Given the description of an element on the screen output the (x, y) to click on. 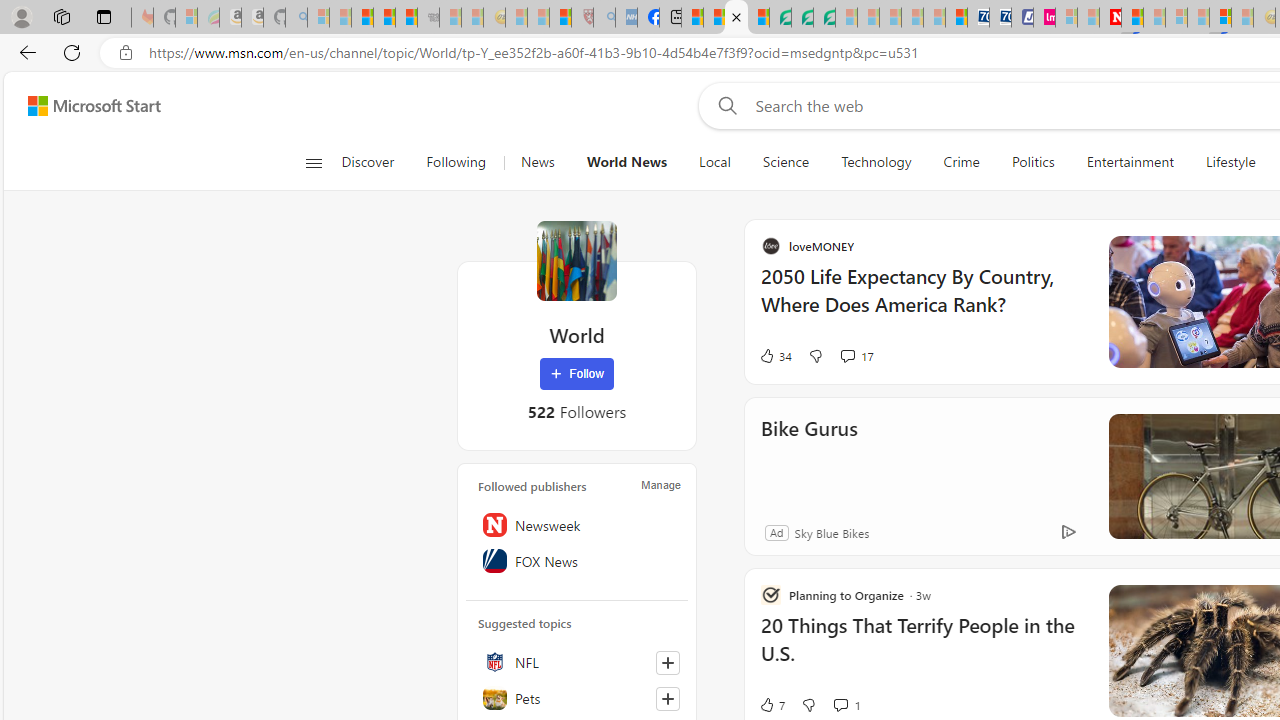
7 Like (964, 704)
Microsoft Word - consumer-privacy address update 2.2021 (824, 17)
20 Things That Terrify People in the U.S. (1115, 650)
